Given the description of an element on the screen output the (x, y) to click on. 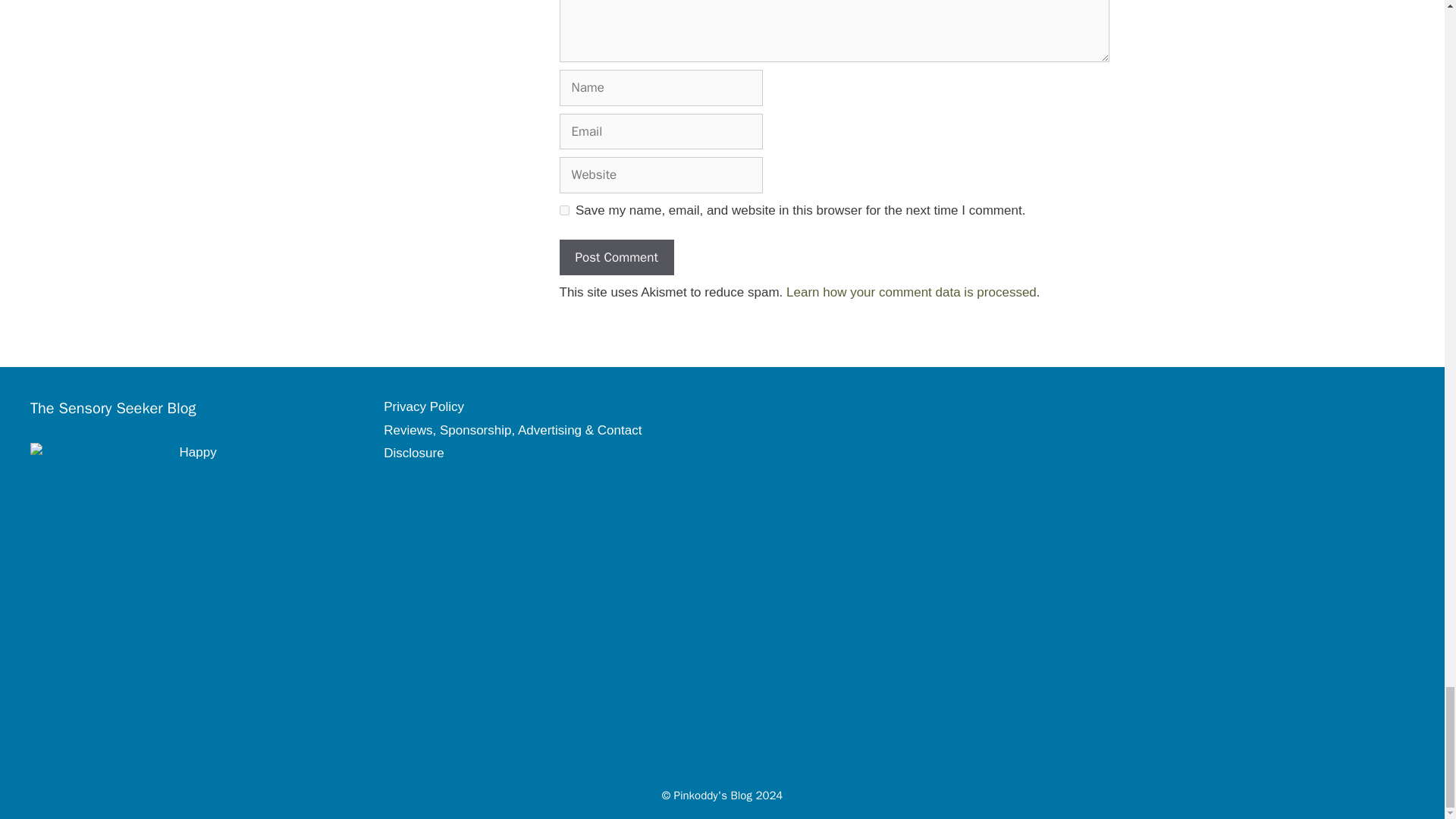
Post Comment (616, 257)
yes (564, 210)
